Given the description of an element on the screen output the (x, y) to click on. 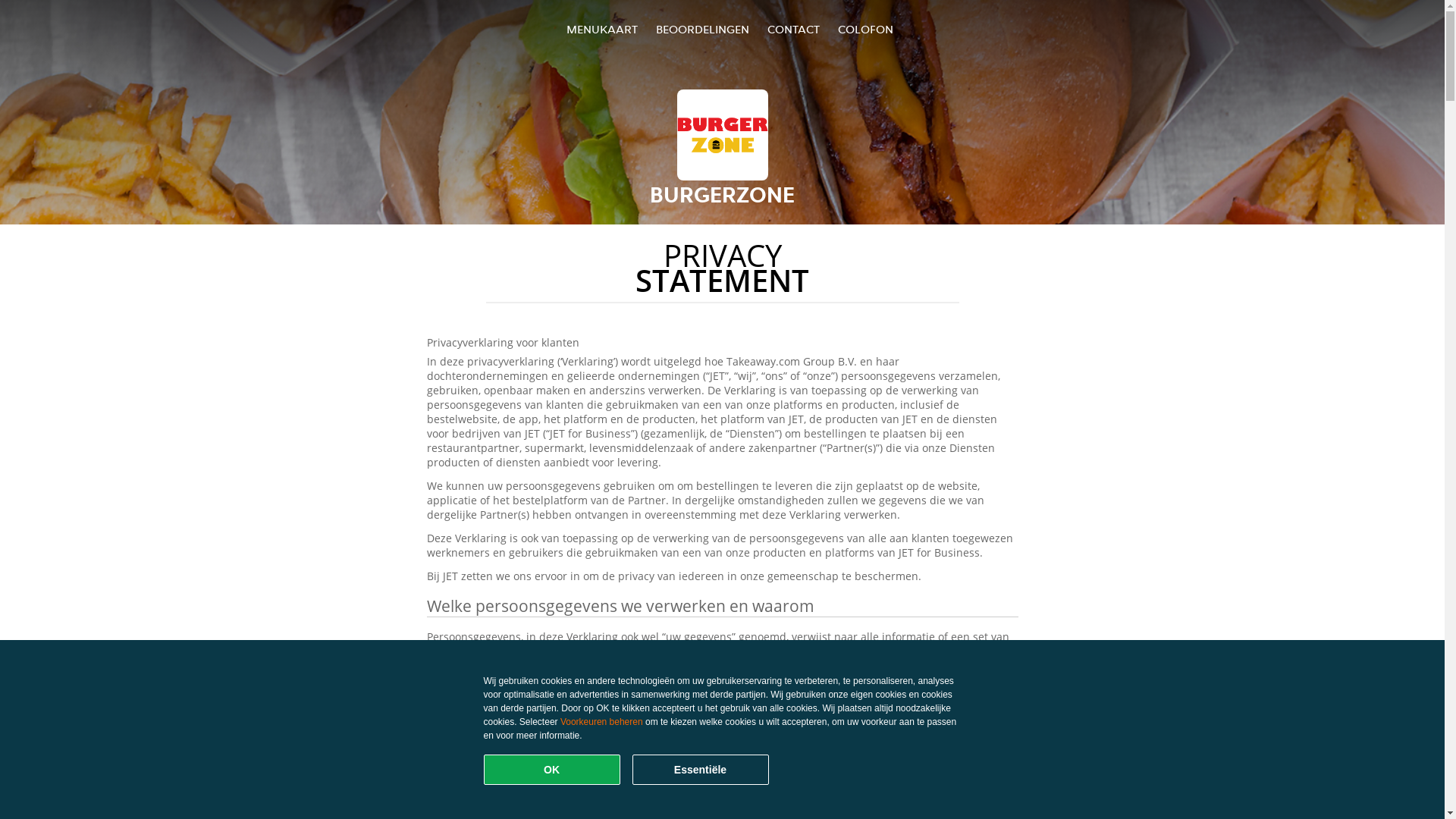
BEOORDELINGEN Element type: text (702, 29)
COLOFON Element type: text (865, 29)
MENUKAART Element type: text (601, 29)
Voorkeuren beheren Element type: text (601, 721)
OK Element type: text (551, 769)
CONTACT Element type: text (793, 29)
